Given the description of an element on the screen output the (x, y) to click on. 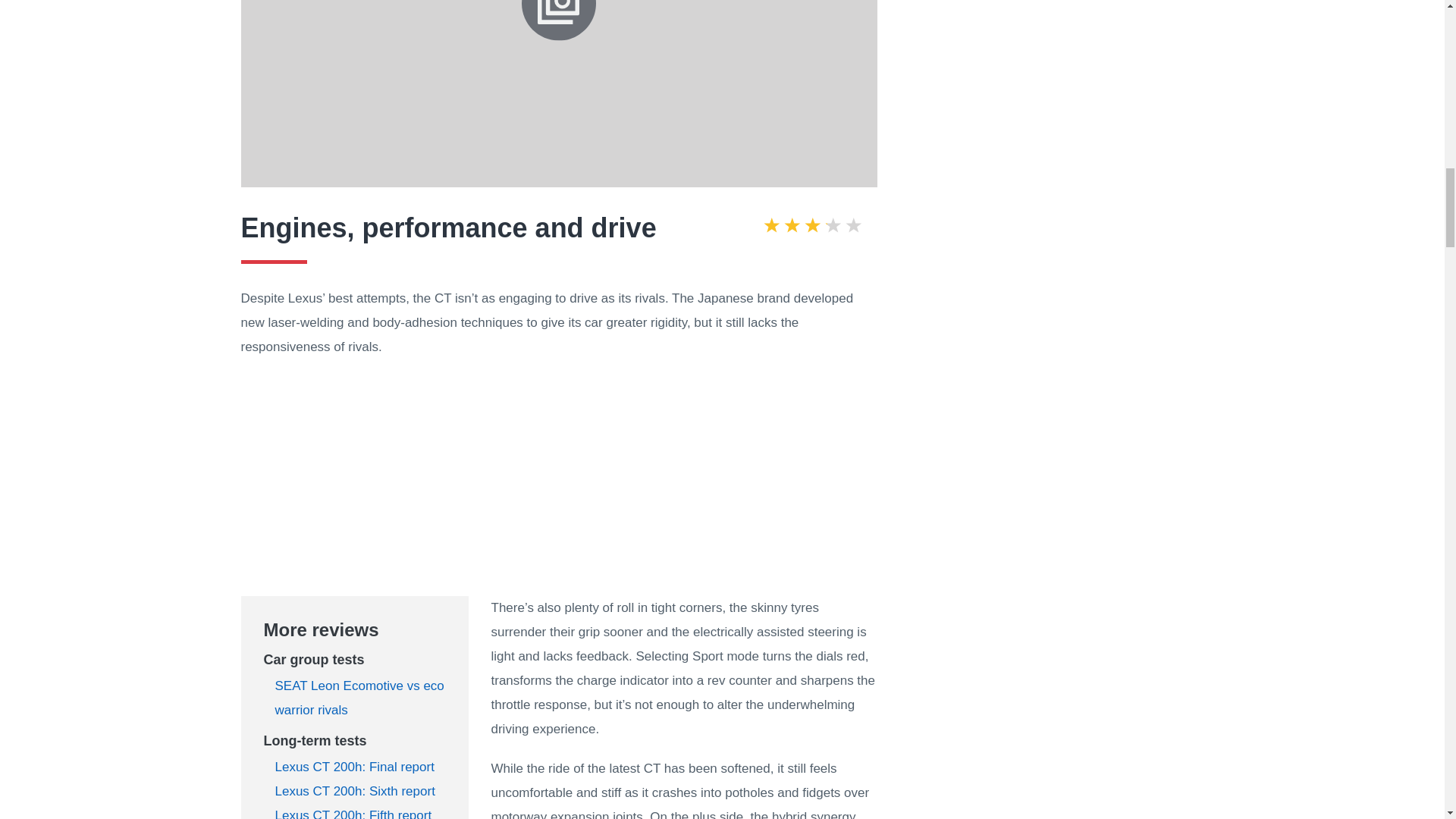
3.1 Stars (811, 228)
